Given the description of an element on the screen output the (x, y) to click on. 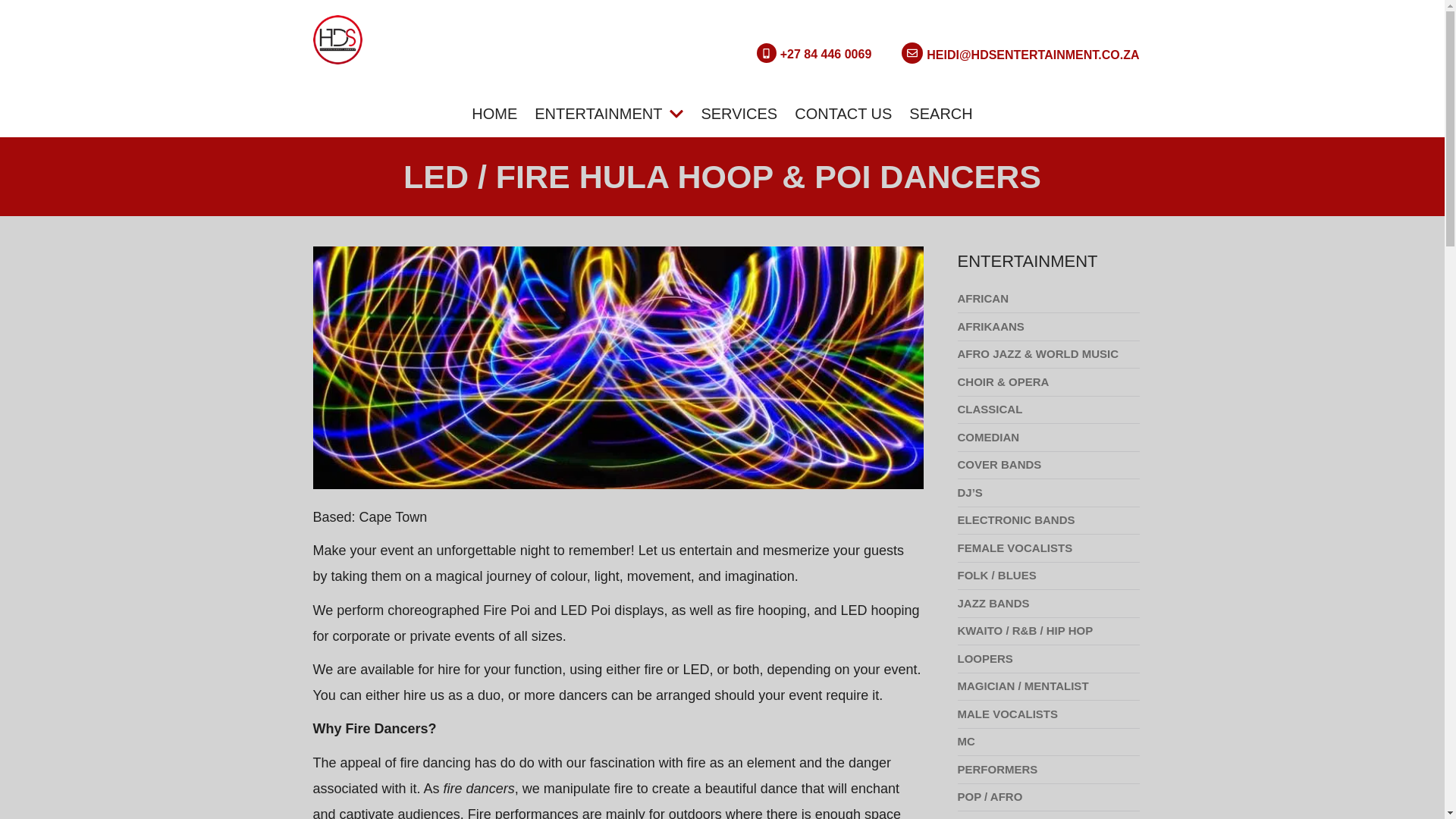
CONTACT US (842, 113)
SERVICES (738, 113)
SEARCH (940, 113)
ENTERTAINMENT (608, 114)
AFRICAN (1047, 298)
AFRIKAANS (1047, 326)
HOME (493, 113)
